Given the description of an element on the screen output the (x, y) to click on. 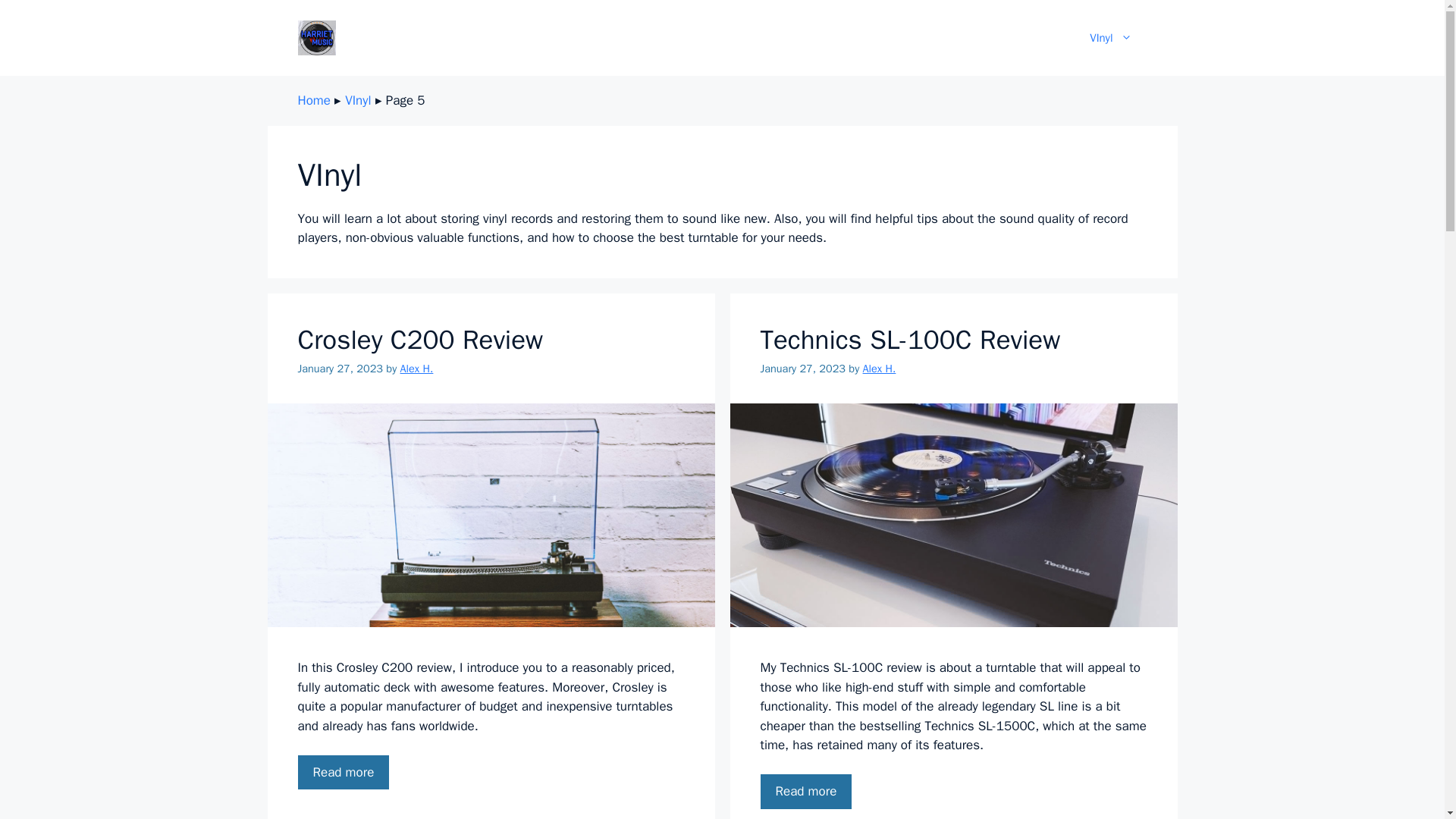
VInyl (358, 100)
Crosley C200 Review (342, 772)
Alex H. (416, 368)
Crosley C200 Review (420, 339)
View all posts by Alex H. (416, 368)
VInyl (1110, 37)
Technics SL-100C Review (805, 791)
Technics SL-100C Review (909, 339)
Read more (805, 791)
Alex H. (879, 368)
